Given the description of an element on the screen output the (x, y) to click on. 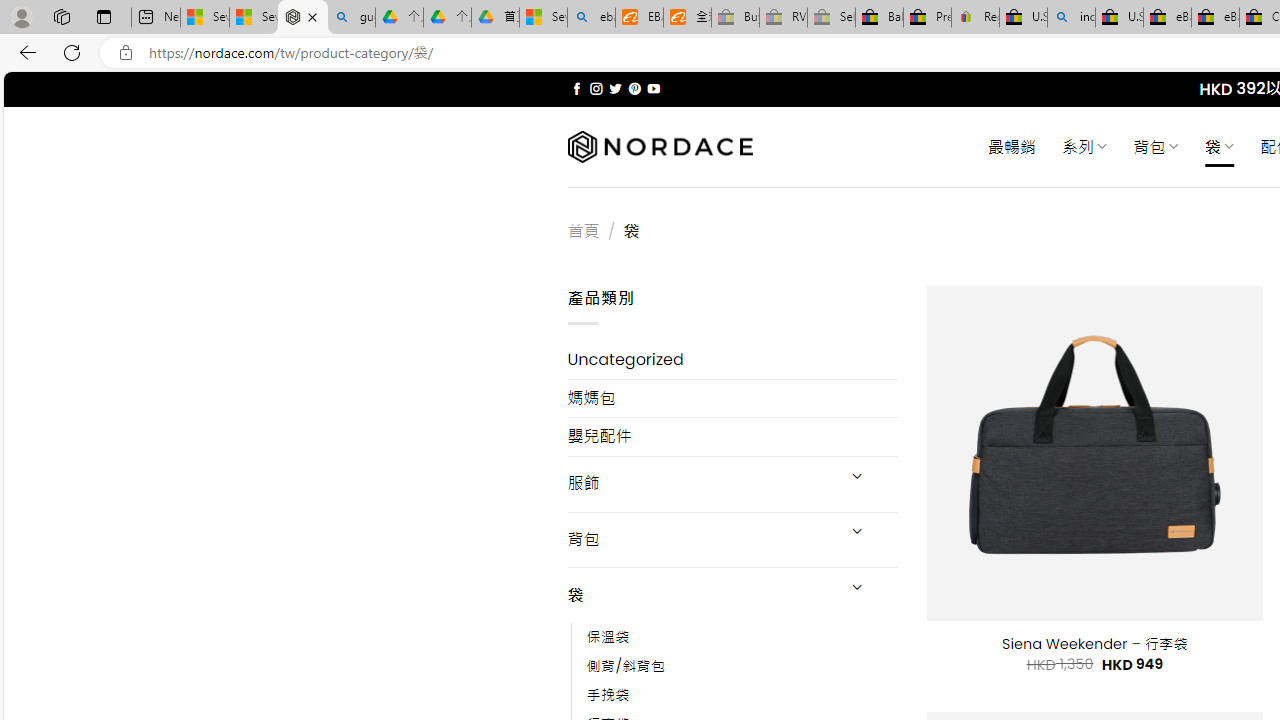
guge yunpan - Search (351, 17)
Follow on Pinterest (634, 88)
ebay - Search (591, 17)
Register: Create a personal eBay account (975, 17)
Follow on Twitter (615, 88)
Follow on Instagram (596, 88)
Sell worldwide with eBay - Sleeping (831, 17)
